Given the description of an element on the screen output the (x, y) to click on. 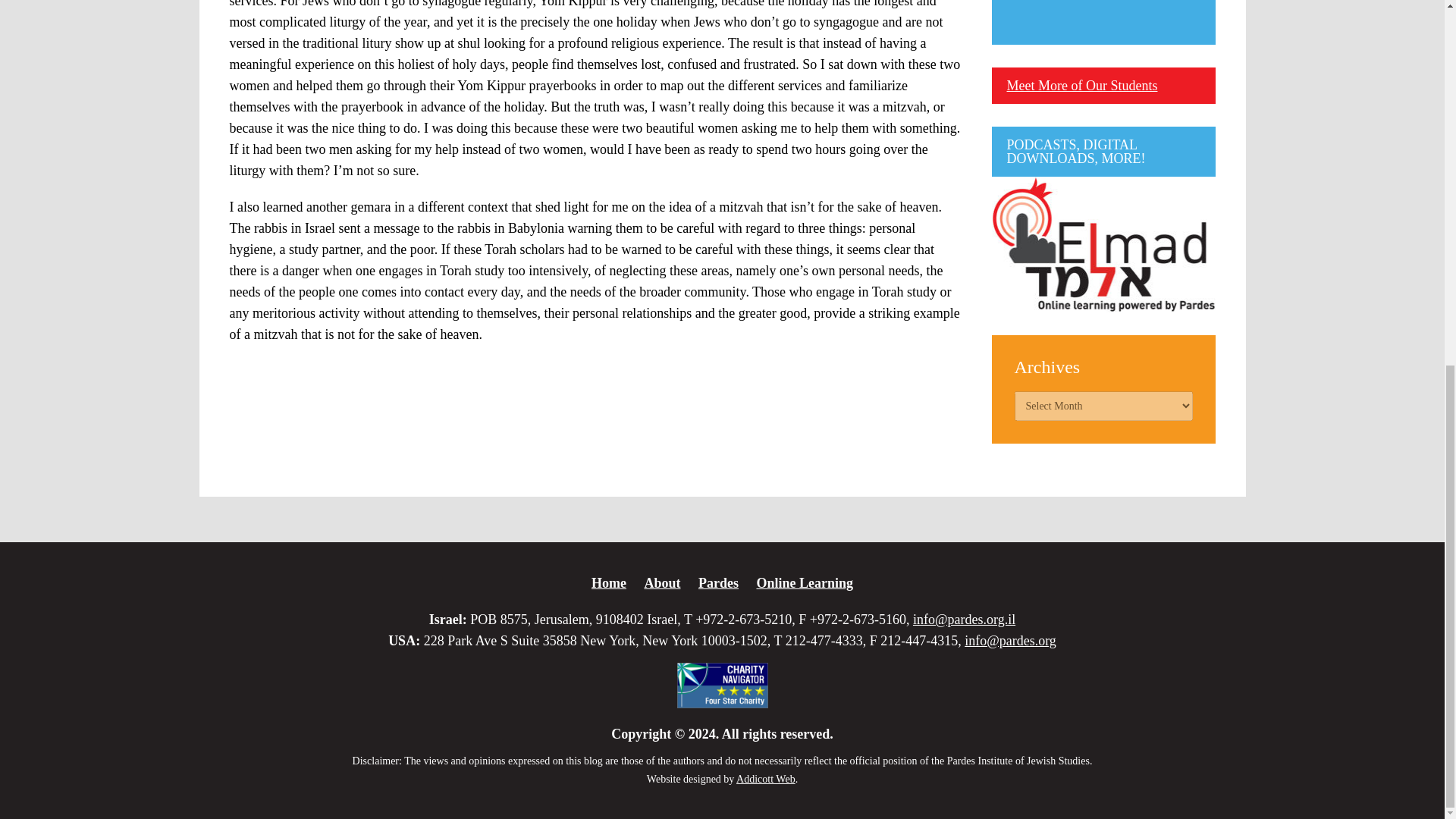
Meet More of Our Students (1082, 85)
About (661, 582)
Podcasts, Digital Downloads, More! (1103, 243)
Home (608, 582)
Addicott Web (765, 778)
Online Learning (804, 582)
Pardes (718, 582)
